Given the description of an element on the screen output the (x, y) to click on. 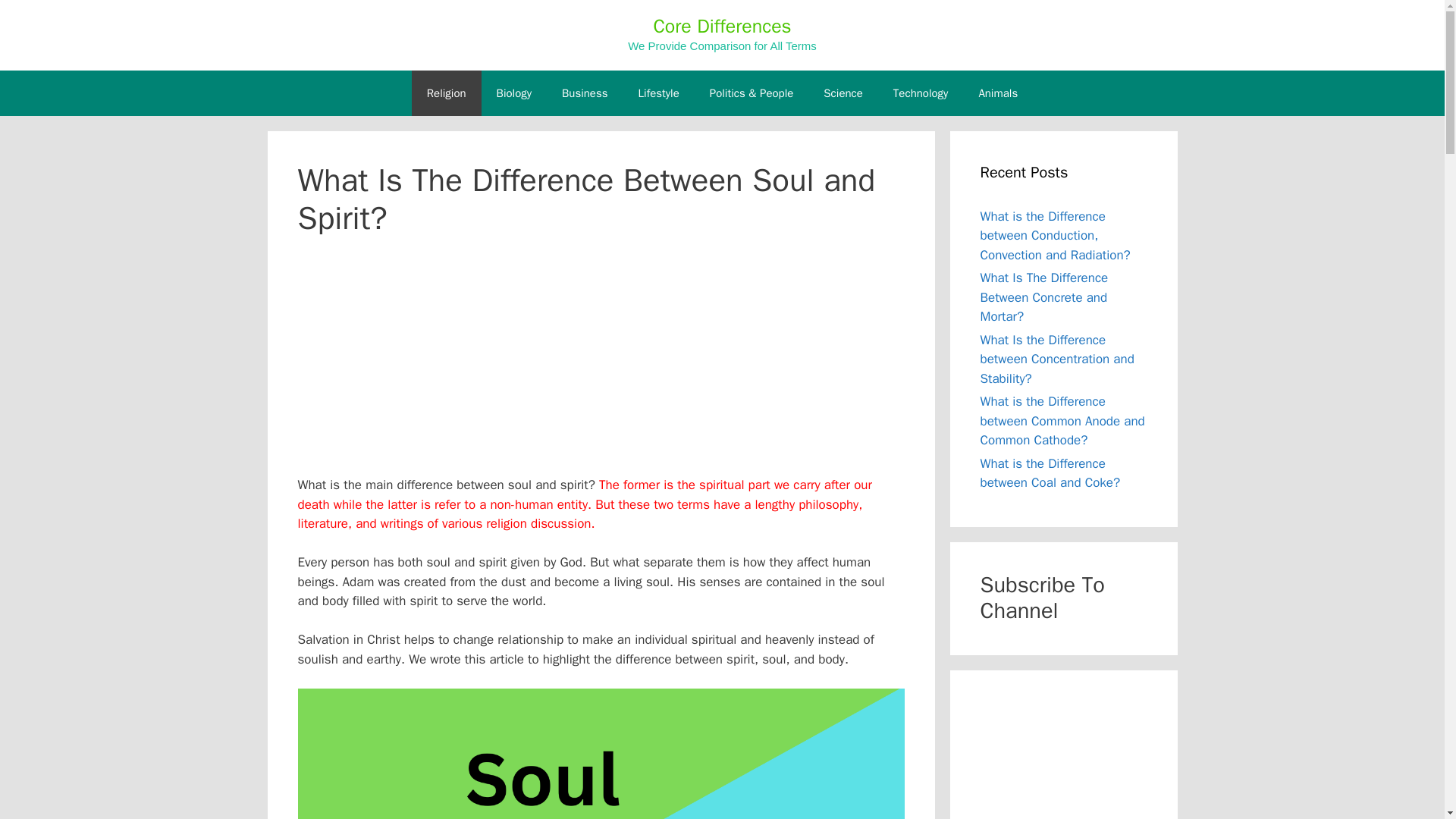
What Is The Difference Between Concrete and Mortar? (1043, 297)
Technology (920, 92)
Science (842, 92)
Business (585, 92)
What is the Difference between Coal and Coke? (1049, 472)
Religion (446, 92)
Biology (514, 92)
Difference Between Verbal and Non Verbal Communication (1063, 747)
Core Differences (721, 25)
Lifestyle (658, 92)
Animals (997, 92)
What Is the Difference between Concentration and Stability? (1056, 359)
